Given the description of an element on the screen output the (x, y) to click on. 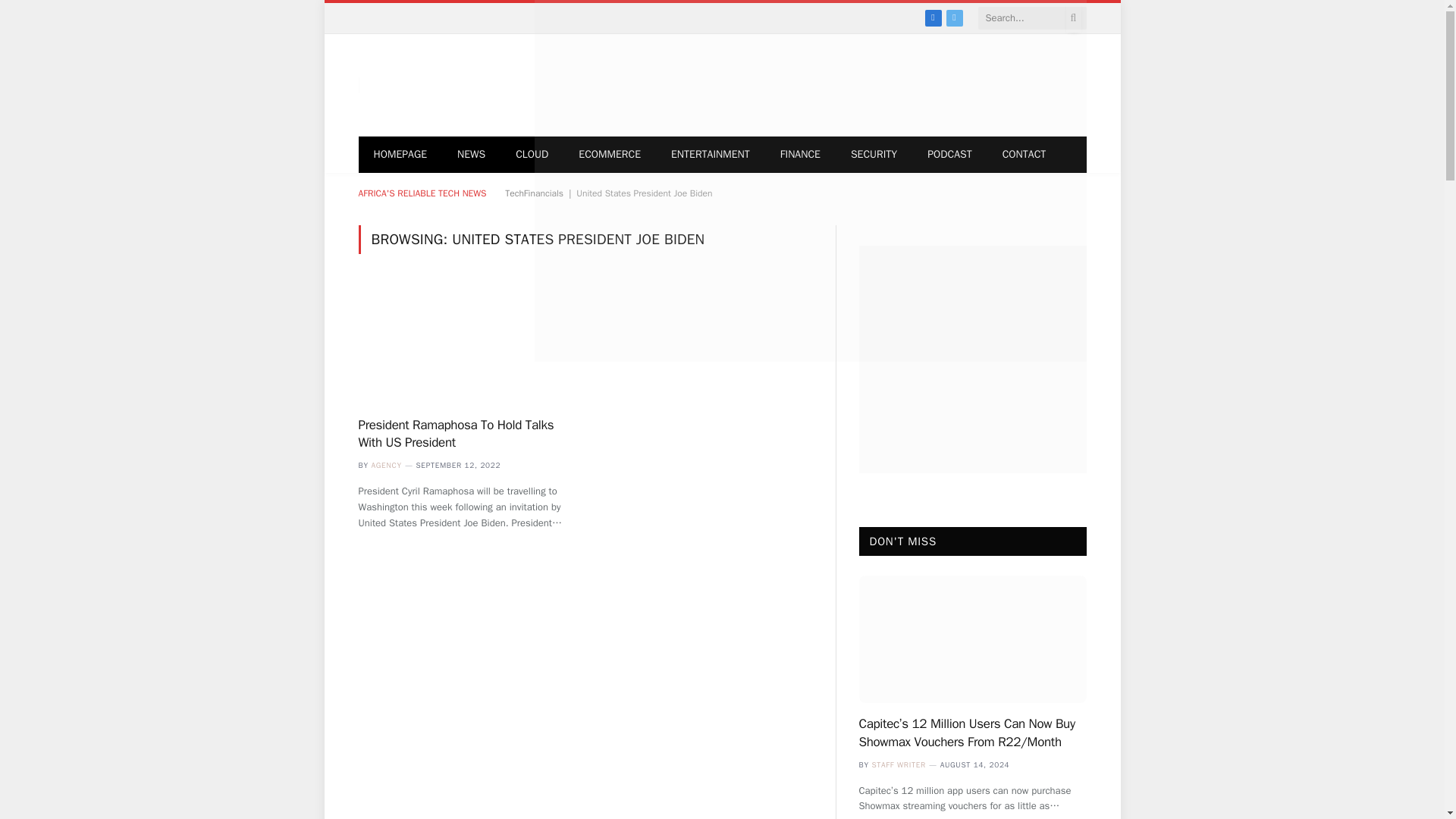
Facebook (933, 17)
HOMEPAGE (400, 154)
PODCAST (949, 154)
FINANCE (800, 154)
NEWS (471, 154)
ECOMMERCE (609, 154)
ENTERTAINMENT (710, 154)
SECURITY (873, 154)
Posts by Staff Writer (898, 764)
Posts by Agency (386, 465)
